Given the description of an element on the screen output the (x, y) to click on. 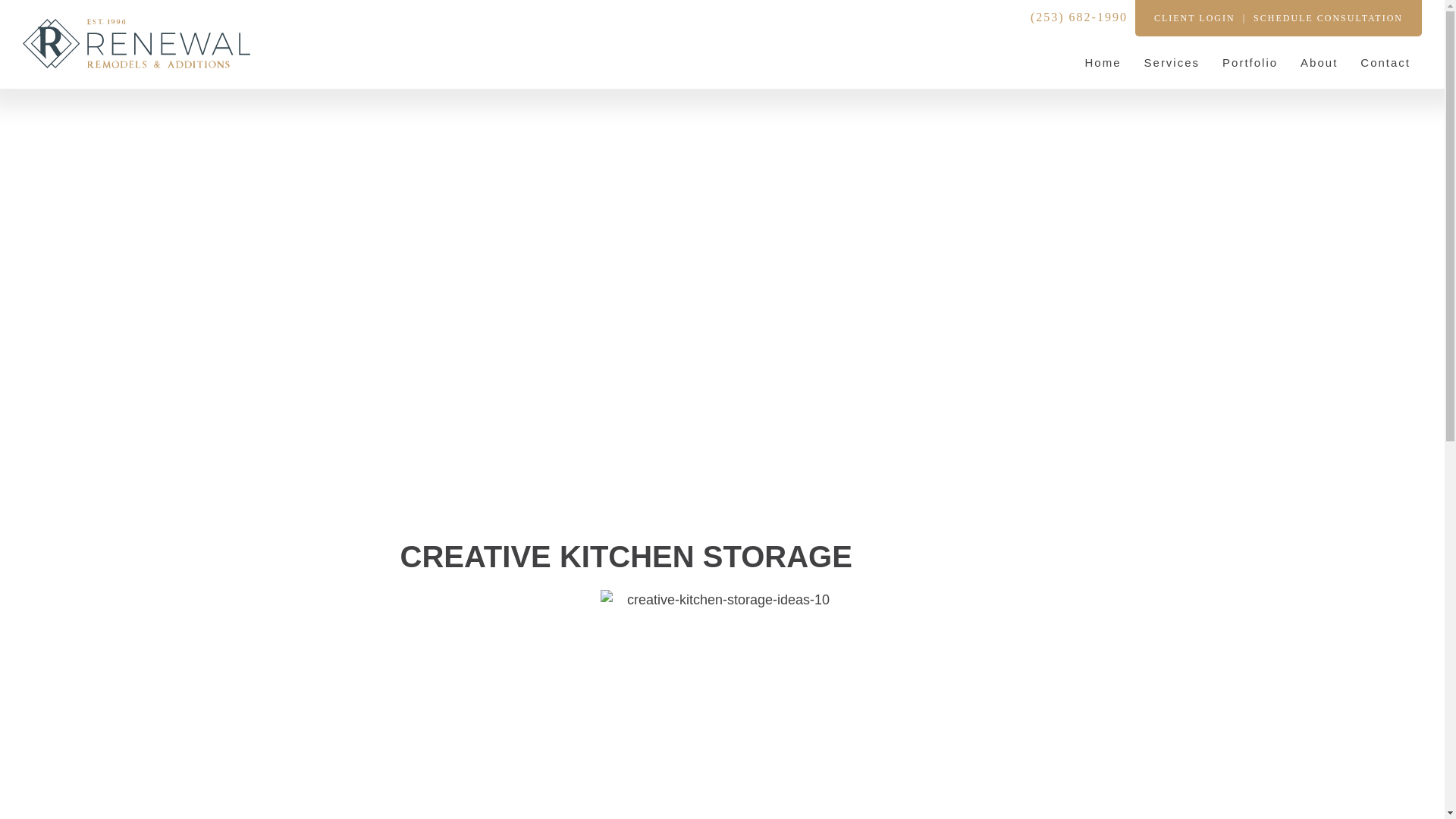
Services (1171, 61)
Home (1103, 61)
About (1318, 61)
remodelingbyrenewal (721, 703)
Contact (1385, 61)
CLIENT LOGIN (1194, 18)
SCHEDULE CONSULTATION (1328, 18)
Portfolio (1249, 61)
